Given the description of an element on the screen output the (x, y) to click on. 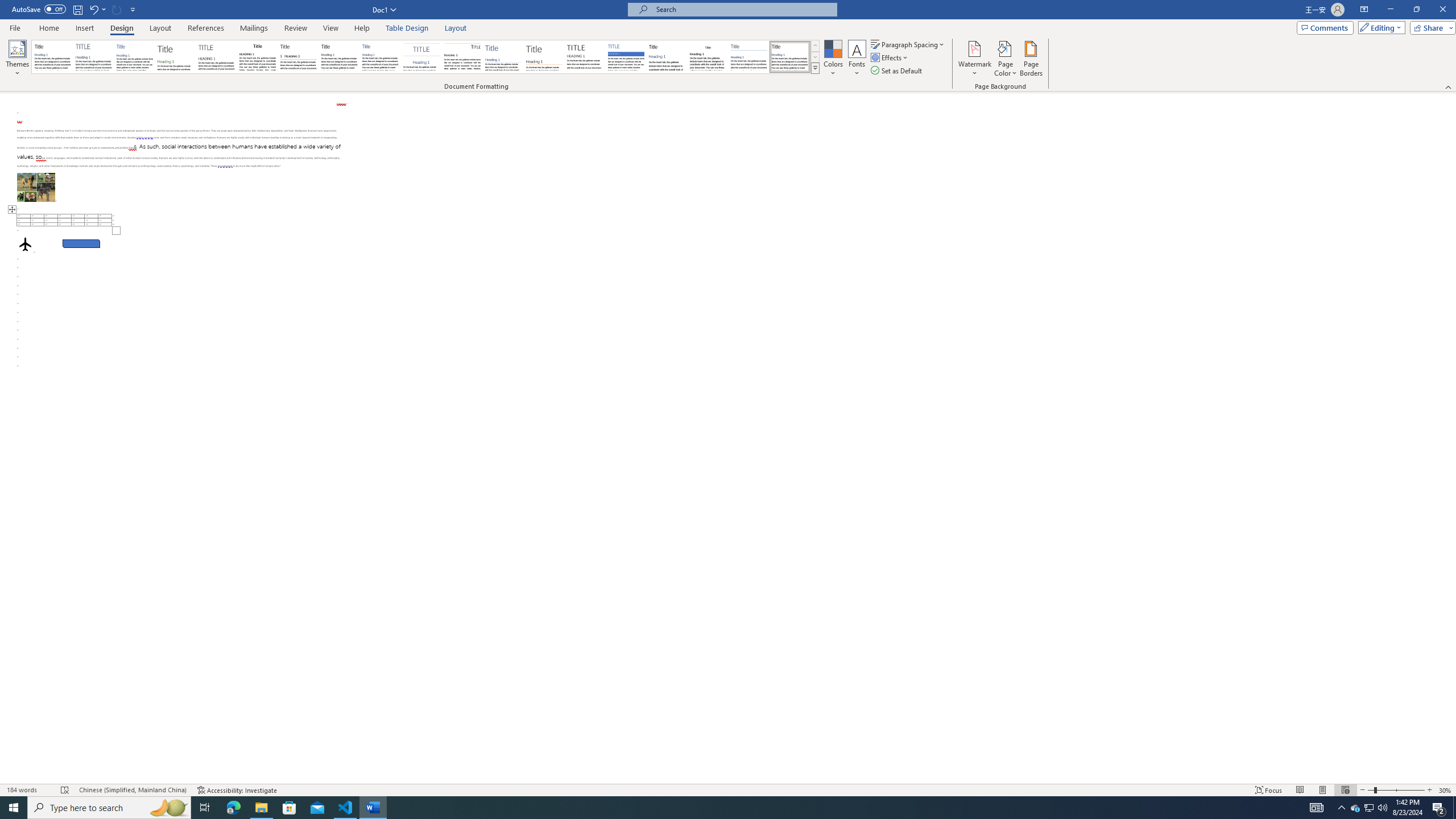
Colors (832, 58)
Basic (Stylish) (175, 56)
Word 2013 (790, 56)
Word 2003 (707, 56)
